Given the description of an element on the screen output the (x, y) to click on. 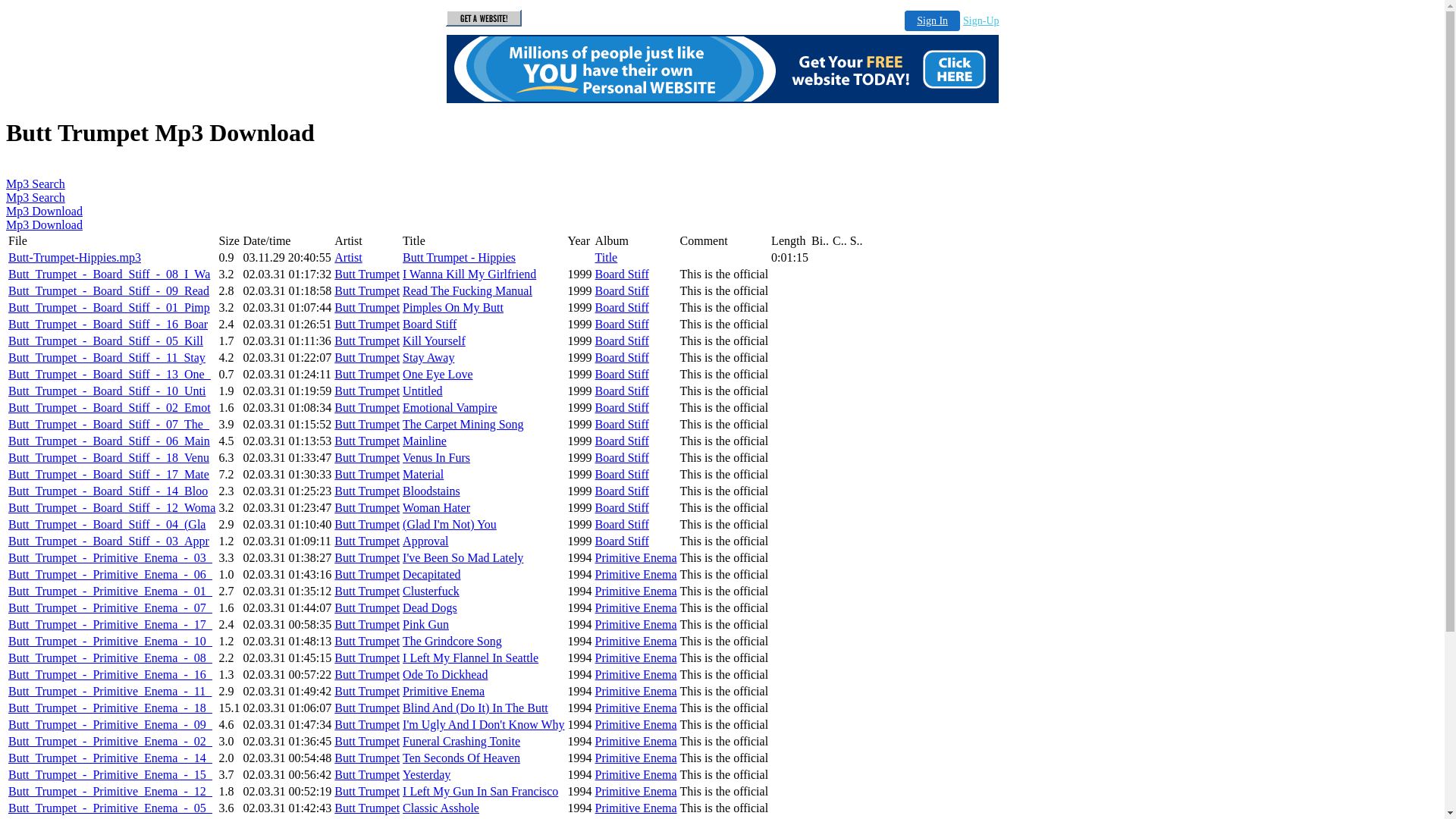
Primitive Enema Element type: text (443, 690)
Board Stiff Element type: text (622, 407)
The Grindcore Song Element type: text (452, 640)
Butt_Trumpet_-_Board_Stiff_-_14_Bloo Element type: text (107, 490)
Primitive Enema Element type: text (636, 573)
The Carpet Mining Song Element type: text (463, 423)
Butt_Trumpet_-_Primitive_Enema_-_06_ Element type: text (110, 573)
One Eye Love Element type: text (437, 373)
Artist Element type: text (347, 257)
Primitive Enema Element type: text (636, 724)
Butt_Trumpet_-_Primitive_Enema_-_12_ Element type: text (110, 790)
Butt Trumpet Element type: text (366, 323)
Material Element type: text (422, 473)
Sign-Up Element type: text (980, 20)
Butt Trumpet Element type: text (366, 473)
Primitive Enema Element type: text (636, 740)
Butt_Trumpet_-_Primitive_Enema_-_08_ Element type: text (110, 657)
Mp3 Search Element type: text (35, 183)
Butt Trumpet Element type: text (366, 457)
Primitive Enema Element type: text (636, 707)
Butt Trumpet Element type: text (366, 540)
Butt_Trumpet_-_Primitive_Enema_-_07_ Element type: text (110, 607)
Butt_Trumpet_-_Board_Stiff_-_03_Appr Element type: text (108, 540)
Funeral Crashing Tonite Element type: text (461, 740)
Yesterday Element type: text (426, 774)
Butt Trumpet - Hippies Element type: text (458, 257)
Butt_Trumpet_-_Board_Stiff_-_17_Mate Element type: text (108, 473)
Primitive Enema Element type: text (636, 690)
Board Stiff Element type: text (622, 523)
Butt_Trumpet_-_Board_Stiff_-_08_I_Wa Element type: text (109, 273)
Butt_Trumpet_-_Primitive_Enema_-_02_ Element type: text (110, 740)
Mp3 Search Element type: text (35, 197)
Butt_Trumpet_-_Board_Stiff_-_18_Venu Element type: text (108, 457)
Primitive Enema Element type: text (636, 774)
Butt Trumpet Element type: text (366, 707)
Butt_Trumpet_-_Primitive_Enema_-_17_ Element type: text (110, 624)
I've Been So Mad Lately Element type: text (462, 557)
Butt Trumpet Element type: text (366, 373)
Mp3 Download Element type: text (44, 210)
Butt Trumpet Element type: text (366, 590)
Mp3 Download Element type: text (44, 224)
Kill Yourself Element type: text (433, 340)
I Left My Flannel In Seattle Element type: text (470, 657)
Board Stiff Element type: text (622, 307)
I'm Ugly And I Don't Know Why Element type: text (483, 724)
Butt Trumpet Element type: text (366, 640)
Butt Trumpet Element type: text (366, 423)
Board Stiff Element type: text (622, 440)
Butt_Trumpet_-_Board_Stiff_-_07_The_ Element type: text (108, 423)
Primitive Enema Element type: text (636, 807)
Mainline Element type: text (424, 440)
Butt_Trumpet_-_Board_Stiff_-_10_Unti Element type: text (106, 390)
Butt_Trumpet_-_Board_Stiff_-_04_(Gla Element type: text (106, 523)
Butt_Trumpet_-_Board_Stiff_-_01_Pimp Element type: text (109, 307)
Venus In Furs Element type: text (436, 457)
Blind And (Do It) In The Butt Element type: text (475, 707)
Clusterfuck Element type: text (430, 590)
Butt_Trumpet_-_Primitive_Enema_-_16_ Element type: text (110, 674)
Board Stiff Element type: text (622, 273)
Butt Trumpet Element type: text (366, 440)
Butt_Trumpet_-_Board_Stiff_-_16_Boar Element type: text (107, 323)
Butt_Trumpet_-_Primitive_Enema_-_05_ Element type: text (110, 807)
Butt Trumpet Element type: text (366, 807)
Butt Trumpet Element type: text (366, 657)
Pimples On My Butt Element type: text (452, 307)
I Wanna Kill My Girlfriend Element type: text (469, 273)
Board Stiff Element type: text (622, 290)
Untitled Element type: text (422, 390)
Butt Trumpet Element type: text (366, 357)
Primitive Enema Element type: text (636, 640)
Ten Seconds Of Heaven Element type: text (461, 757)
Butt Trumpet Element type: text (366, 774)
Butt Trumpet Element type: text (366, 307)
Sign In Element type: text (932, 20)
Butt Trumpet Element type: text (366, 757)
Primitive Enema Element type: text (636, 657)
Butt Trumpet Element type: text (366, 624)
Butt_Trumpet_-_Primitive_Enema_-_03_ Element type: text (110, 557)
Board Stiff Element type: text (622, 357)
Butt Trumpet Element type: text (366, 724)
Pink Gun Element type: text (425, 624)
Butt Trumpet Element type: text (366, 340)
Board Stiff Element type: text (429, 323)
Butt_Trumpet_-_Board_Stiff_-_09_Read Element type: text (108, 290)
Butt Trumpet Element type: text (366, 407)
Butt_Trumpet_-_Board_Stiff_-_13_One_ Element type: text (109, 373)
Butt Trumpet Element type: text (366, 523)
Board Stiff Element type: text (622, 540)
Butt_Trumpet_-_Primitive_Enema_-_11_ Element type: text (109, 690)
Board Stiff Element type: text (622, 340)
Butt_Trumpet_-_Primitive_Enema_-_15_ Element type: text (110, 774)
Stay Away Element type: text (428, 357)
Butt Trumpet Element type: text (366, 690)
Board Stiff Element type: text (622, 373)
Butt Trumpet Element type: text (366, 290)
Approval Element type: text (425, 540)
Butt-Trumpet-Hippies.mp3 Element type: text (74, 257)
Butt_Trumpet_-_Primitive_Enema_-_01_ Element type: text (110, 590)
Primitive Enema Element type: text (636, 590)
(Glad I'm Not) You Element type: text (449, 523)
Butt_Trumpet_-_Board_Stiff_-_05_Kill Element type: text (105, 340)
Dead Dogs Element type: text (429, 607)
Butt_Trumpet_-_Board_Stiff_-_11_Stay Element type: text (106, 357)
Butt_Trumpet_-_Board_Stiff_-_02_Emot Element type: text (109, 407)
Butt_Trumpet_-_Board_Stiff_-_06_Main Element type: text (109, 440)
Board Stiff Element type: text (622, 457)
I Left My Gun In San Francisco Element type: text (480, 790)
Butt Trumpet Element type: text (366, 573)
Primitive Enema Element type: text (636, 674)
Decapitated Element type: text (431, 573)
Primitive Enema Element type: text (636, 790)
Board Stiff Element type: text (622, 473)
Butt Trumpet Element type: text (366, 740)
Butt Trumpet Element type: text (366, 557)
Emotional Vampire Element type: text (449, 407)
Butt_Trumpet_-_Primitive_Enema_-_14_ Element type: text (110, 757)
Read The Fucking Manual Element type: text (467, 290)
Primitive Enema Element type: text (636, 757)
Woman Hater Element type: text (436, 507)
Bloodstains Element type: text (431, 490)
Butt Trumpet Element type: text (366, 607)
Title Element type: text (606, 257)
Butt Trumpet Element type: text (366, 507)
Butt_Trumpet_-_Primitive_Enema_-_10_ Element type: text (110, 640)
Butt_Trumpet_-_Primitive_Enema_-_09_ Element type: text (110, 724)
Butt Trumpet Element type: text (366, 490)
Butt Trumpet Element type: text (366, 790)
Butt_Trumpet_-_Primitive_Enema_-_18_ Element type: text (110, 707)
Board Stiff Element type: text (622, 507)
Primitive Enema Element type: text (636, 607)
Butt Trumpet Element type: text (366, 390)
Ode To Dickhead Element type: text (444, 674)
Butt Trumpet Element type: text (366, 674)
Butt Trumpet Element type: text (366, 273)
Board Stiff Element type: text (622, 423)
Board Stiff Element type: text (622, 390)
Primitive Enema Element type: text (636, 557)
Butt_Trumpet_-_Board_Stiff_-_12_Woma Element type: text (111, 507)
Board Stiff Element type: text (622, 490)
Primitive Enema Element type: text (636, 624)
Classic Asshole Element type: text (440, 807)
Board Stiff Element type: text (622, 323)
